Given the description of an element on the screen output the (x, y) to click on. 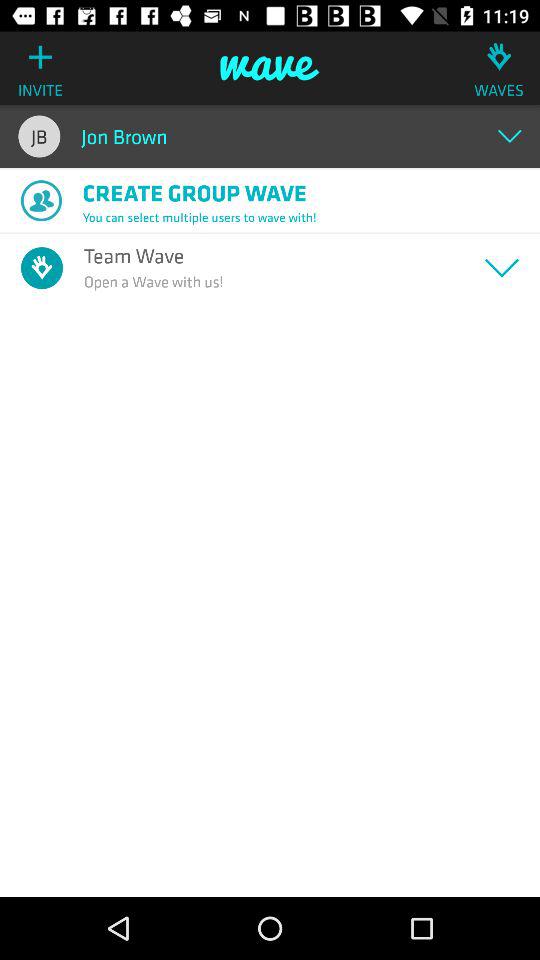
launch icon to the right of invite icon (269, 68)
